Given the description of an element on the screen output the (x, y) to click on. 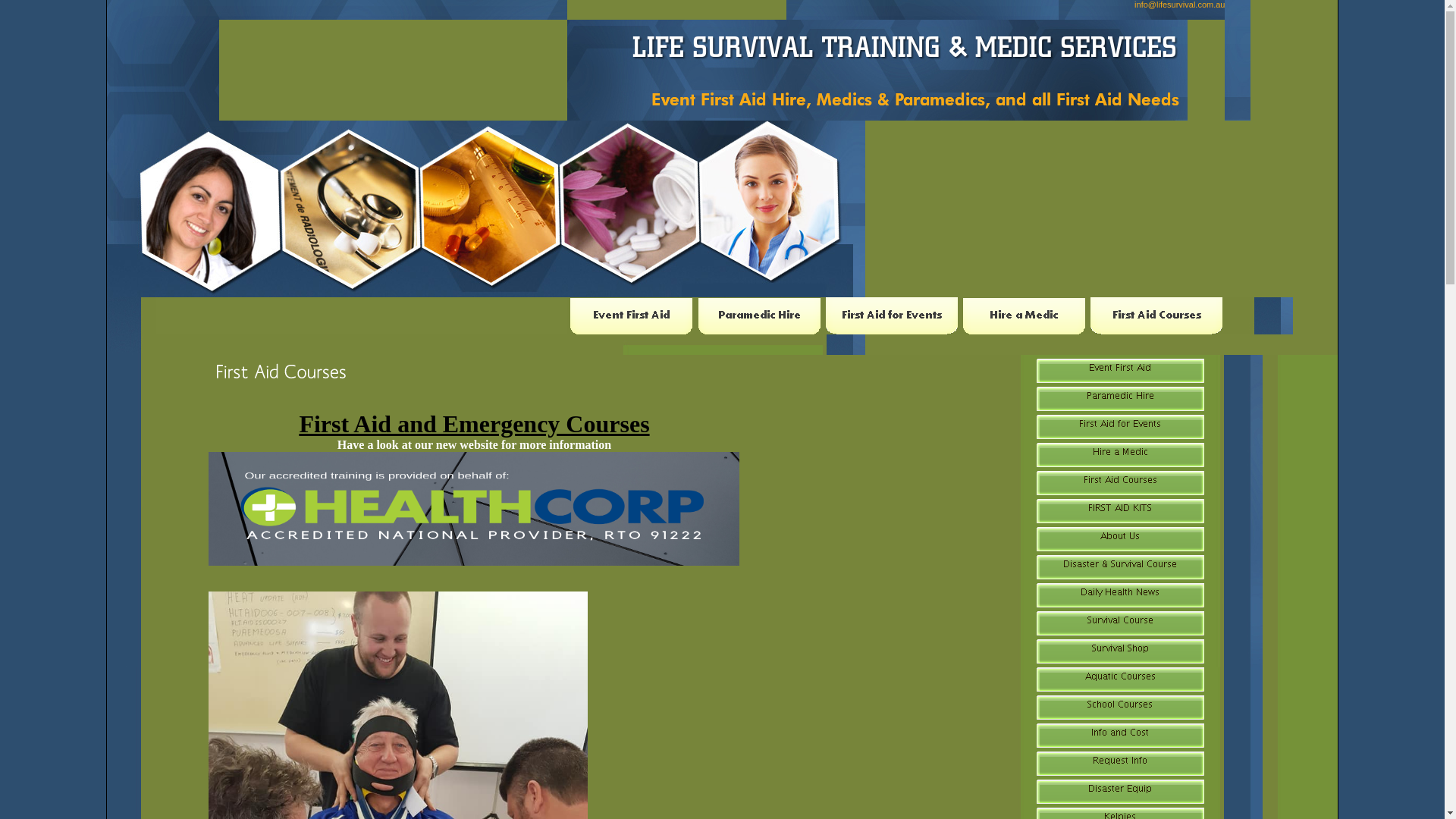
info@lifesurvival.com.au Element type: text (1179, 4)
First Aid and Emergency Courses Element type: text (473, 423)
Healthcorp_Co-Provider_Banner_(1)_(002) Element type: hover (473, 508)
